Given the description of an element on the screen output the (x, y) to click on. 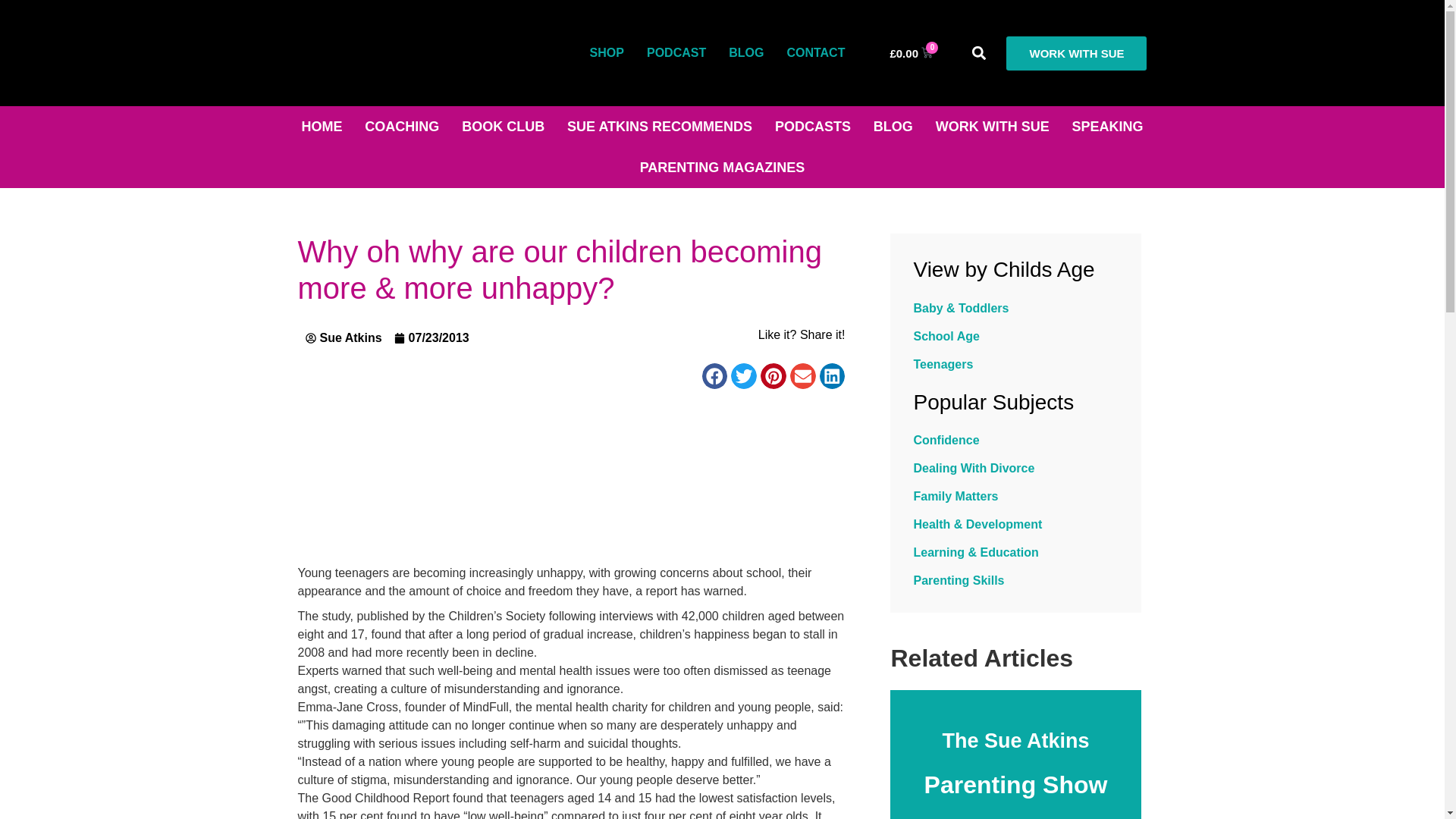
COACHING (401, 126)
HOME (321, 126)
PODCAST (675, 53)
PARENTING MAGAZINES (721, 167)
SHOP (606, 53)
PODCASTS (811, 126)
BOOK CLUB (502, 126)
BLOG (892, 126)
WORK WITH SUE (1076, 53)
SPEAKING (1107, 126)
WORK WITH SUE (992, 126)
BLOG (745, 53)
CONTACT (815, 53)
SUE ATKINS RECOMMENDS (659, 126)
